Given the description of an element on the screen output the (x, y) to click on. 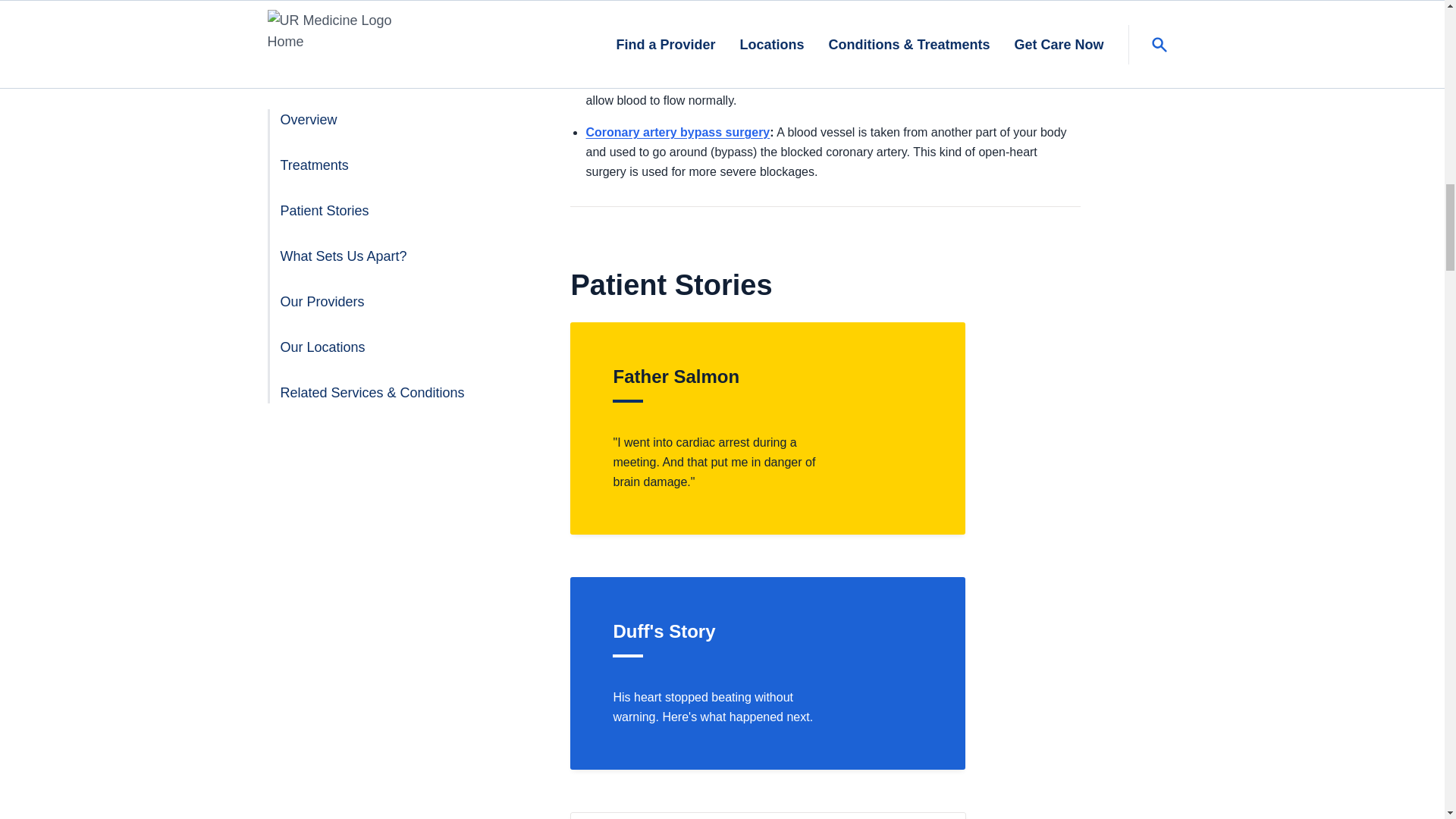
YouTube video player (1021, 673)
YouTube video player (1021, 428)
